Given the description of an element on the screen output the (x, y) to click on. 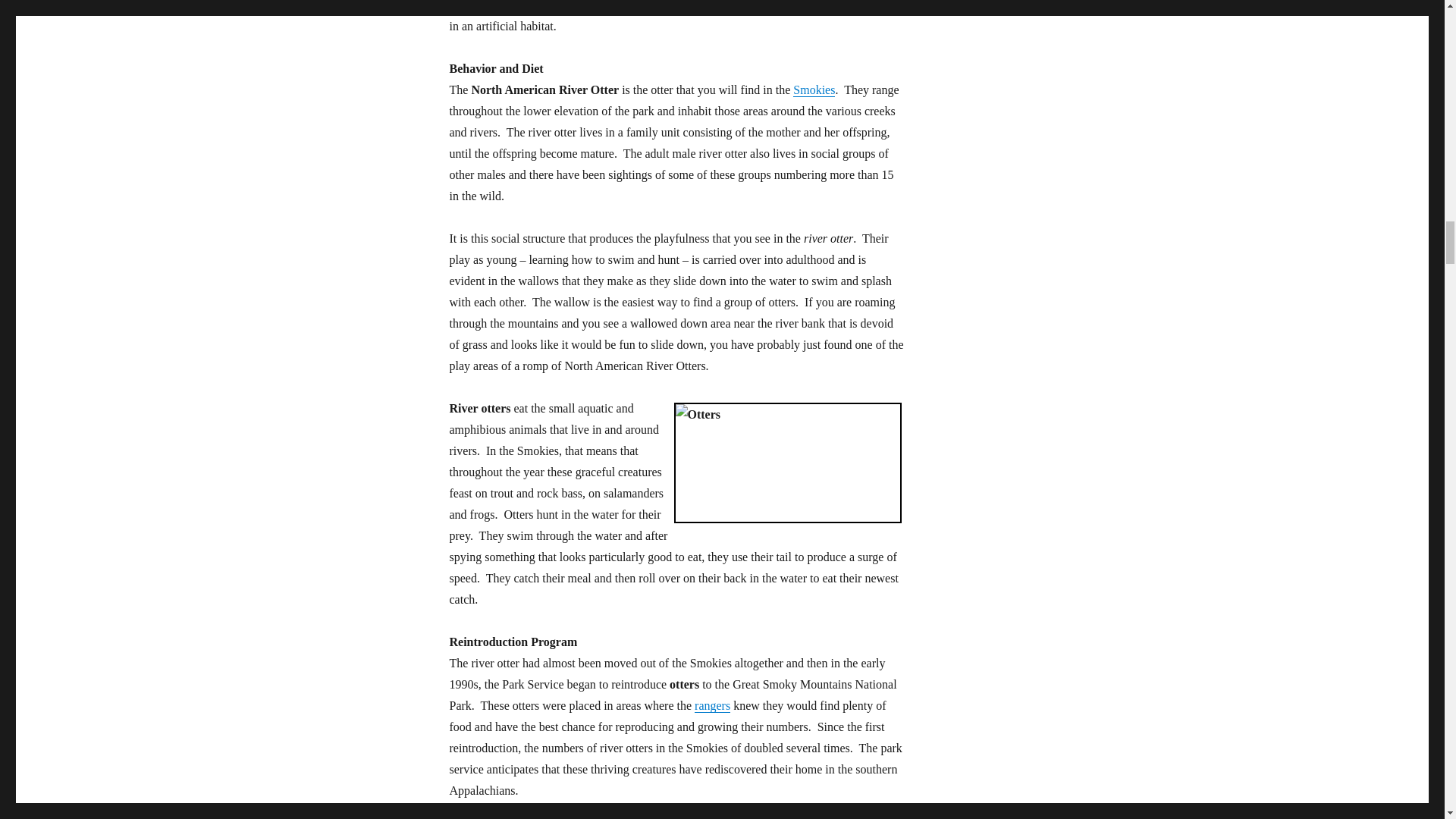
Smokies (813, 89)
otter2 (786, 462)
GSMNP (813, 89)
Park Rangers (712, 705)
rangers (712, 705)
